Given the description of an element on the screen output the (x, y) to click on. 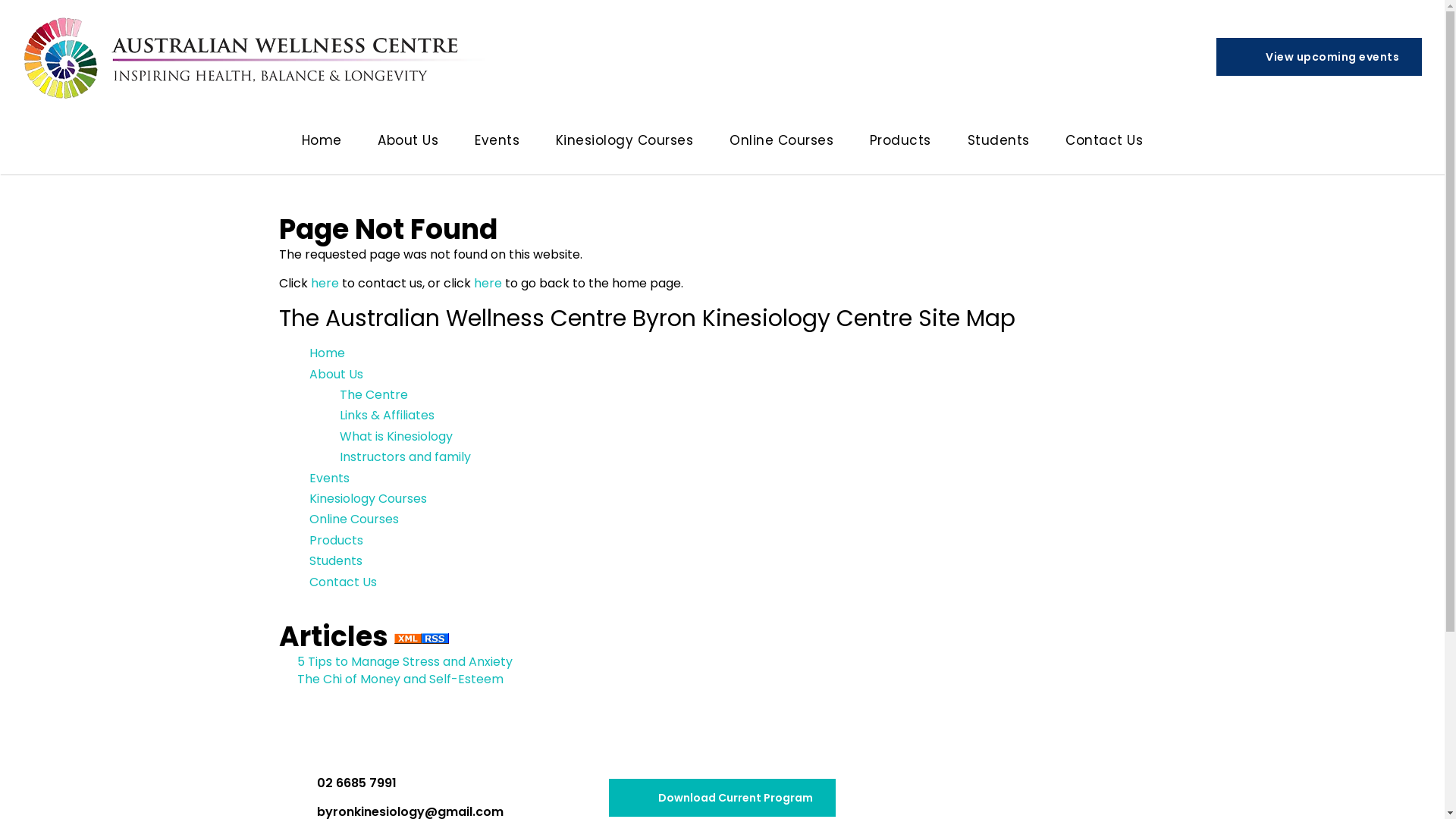
Students Element type: text (998, 143)
Home Element type: text (327, 352)
here Element type: text (324, 282)
Instructors and family Element type: text (404, 456)
Home Element type: text (321, 143)
Online Courses Element type: text (780, 143)
Products Element type: text (900, 143)
Links & Affiliates Element type: text (386, 414)
Kinesiology Courses Element type: text (624, 143)
facebook Element type: text (1086, 797)
Contact Us Element type: text (342, 581)
Online Courses Element type: text (353, 518)
02 6685 7991 Element type: text (342, 783)
5 Tips to Manage Stress and Anxiety Element type: text (404, 661)
Products Element type: text (336, 540)
Events Element type: text (497, 143)
View upcoming events Element type: text (1318, 56)
The Chi of Money and Self-Esteem Element type: text (400, 678)
Students Element type: text (335, 560)
The Centre Element type: text (373, 394)
The Australian Wellness Centre Byron Kinesiology Centre Element type: hover (257, 56)
here Element type: text (487, 282)
About Us Element type: text (407, 143)
RSS Feed link Element type: hover (421, 638)
Events Element type: text (329, 477)
About Us Element type: text (336, 373)
Download Current Program Element type: text (721, 797)
Kinesiology Courses Element type: text (367, 498)
What is Kinesiology Element type: text (395, 436)
Contact Us Element type: text (1103, 143)
